Given the description of an element on the screen output the (x, y) to click on. 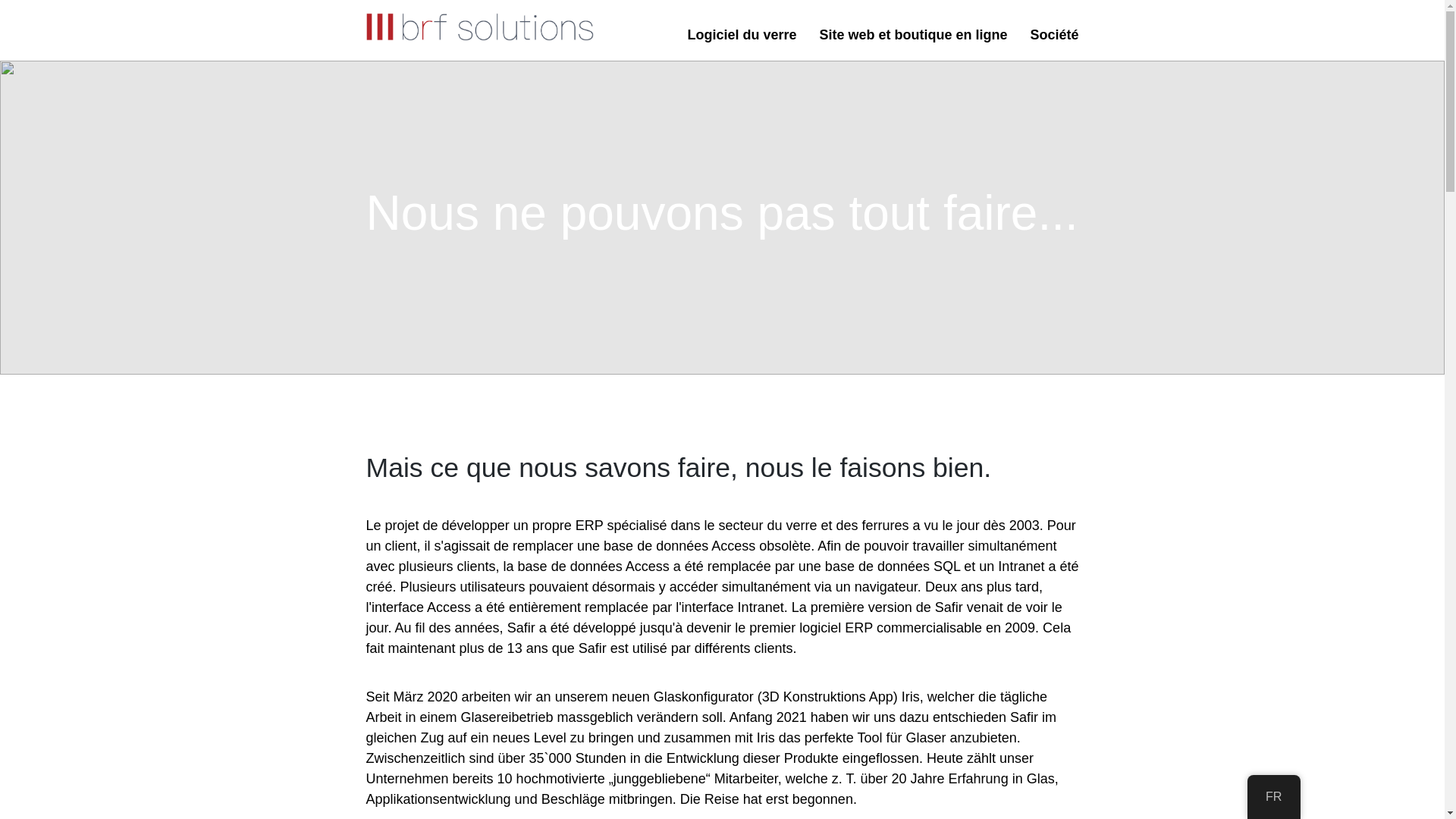
Logiciel du verre Element type: text (741, 34)
Site web et boutique en ligne Element type: text (913, 34)
FR Element type: text (1273, 795)
